Given the description of an element on the screen output the (x, y) to click on. 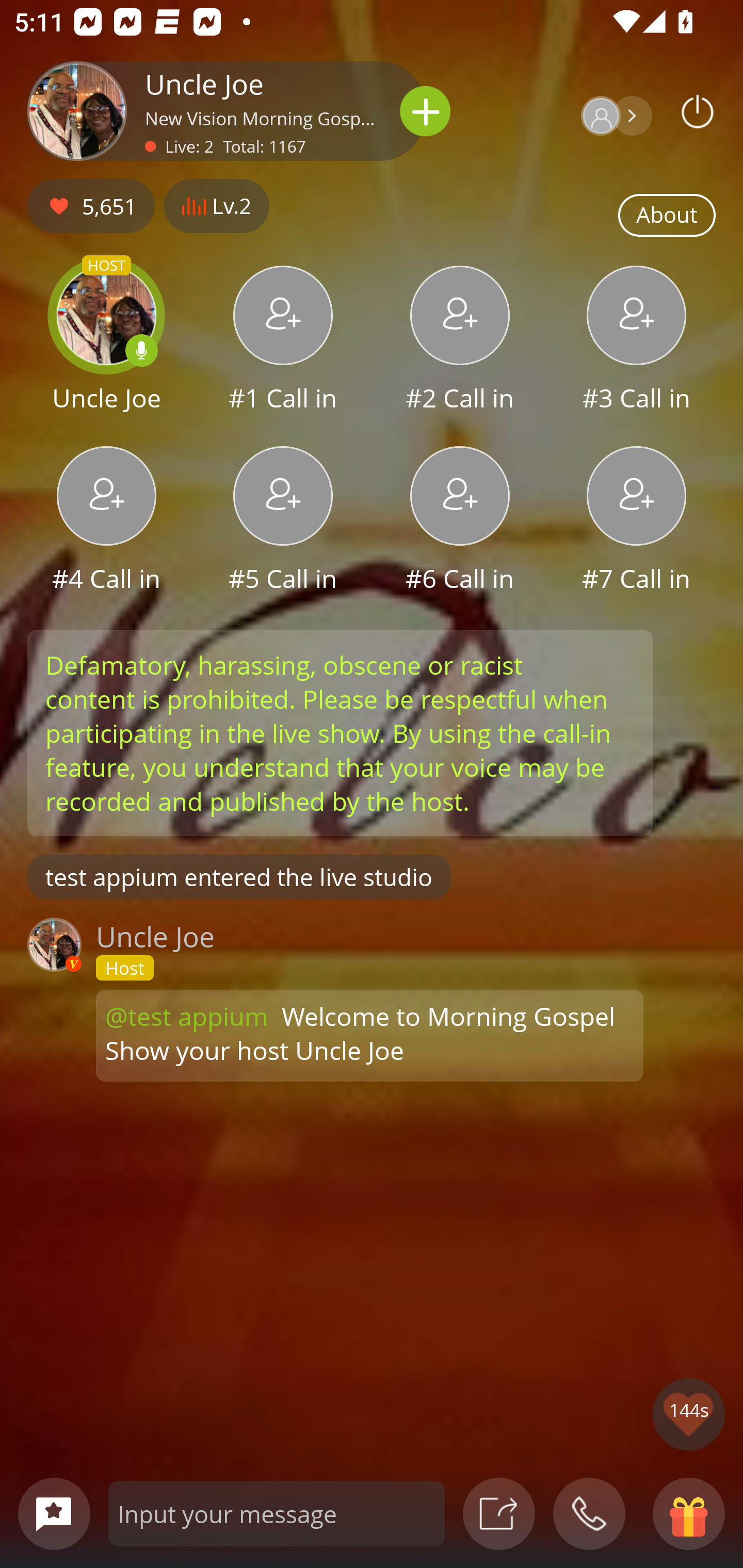
Podbean (697, 111)
About (666, 215)
HOST Uncle Joe (105, 340)
#1 Call in (282, 340)
#2 Call in (459, 340)
#3 Call in (636, 340)
#4 Call in (105, 521)
#5 Call in (282, 521)
#6 Call in (459, 521)
#7 Call in (636, 521)
Input your message (276, 1513)
